Given the description of an element on the screen output the (x, y) to click on. 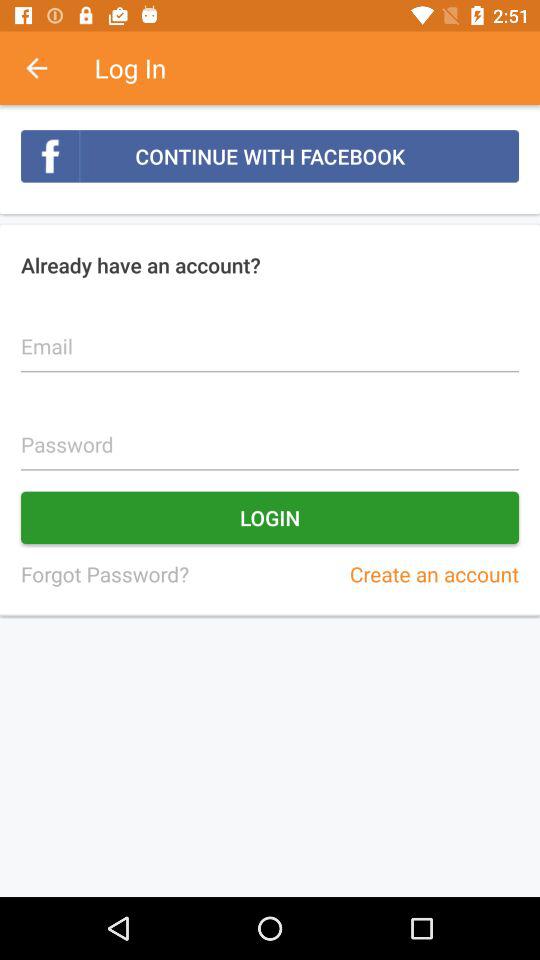
enter password (270, 433)
